Given the description of an element on the screen output the (x, y) to click on. 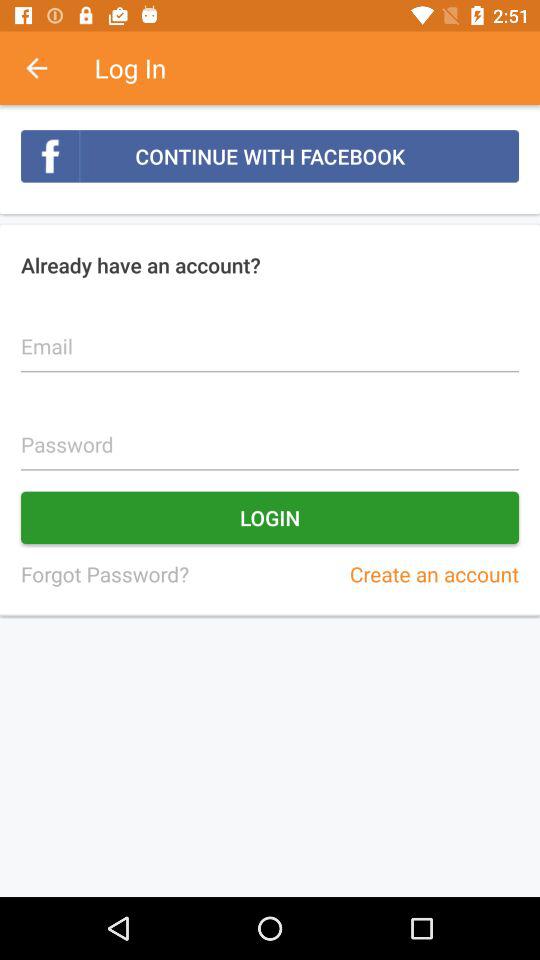
enter password (270, 433)
